Given the description of an element on the screen output the (x, y) to click on. 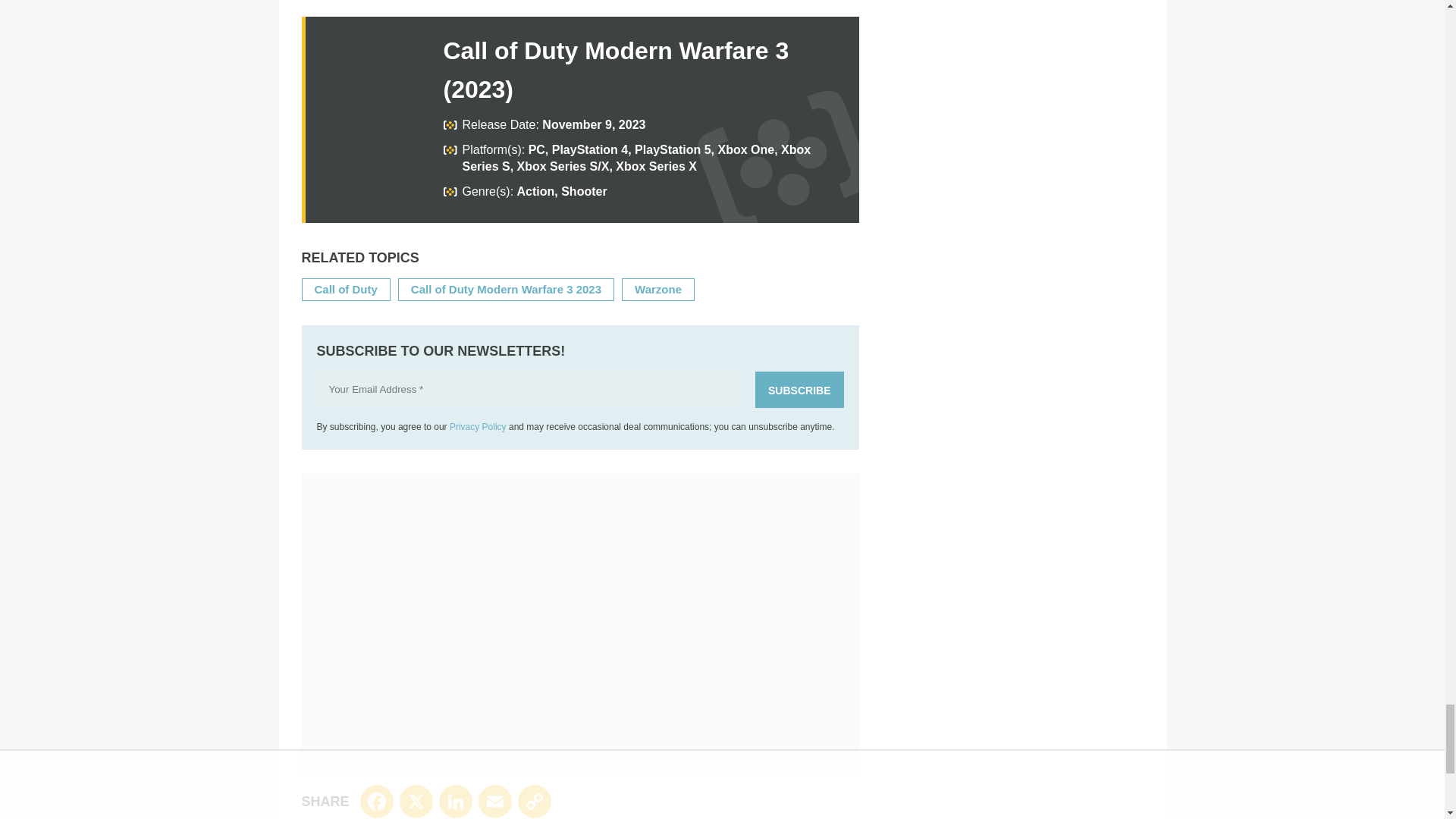
Call of Duty Modern Warfare 3 2023 (505, 288)
Copy Link (534, 801)
Warzone (657, 288)
LinkedIn (455, 801)
X (415, 801)
Facebook (376, 801)
Email (495, 801)
Call of Duty (345, 288)
Subscribe (799, 389)
